Given the description of an element on the screen output the (x, y) to click on. 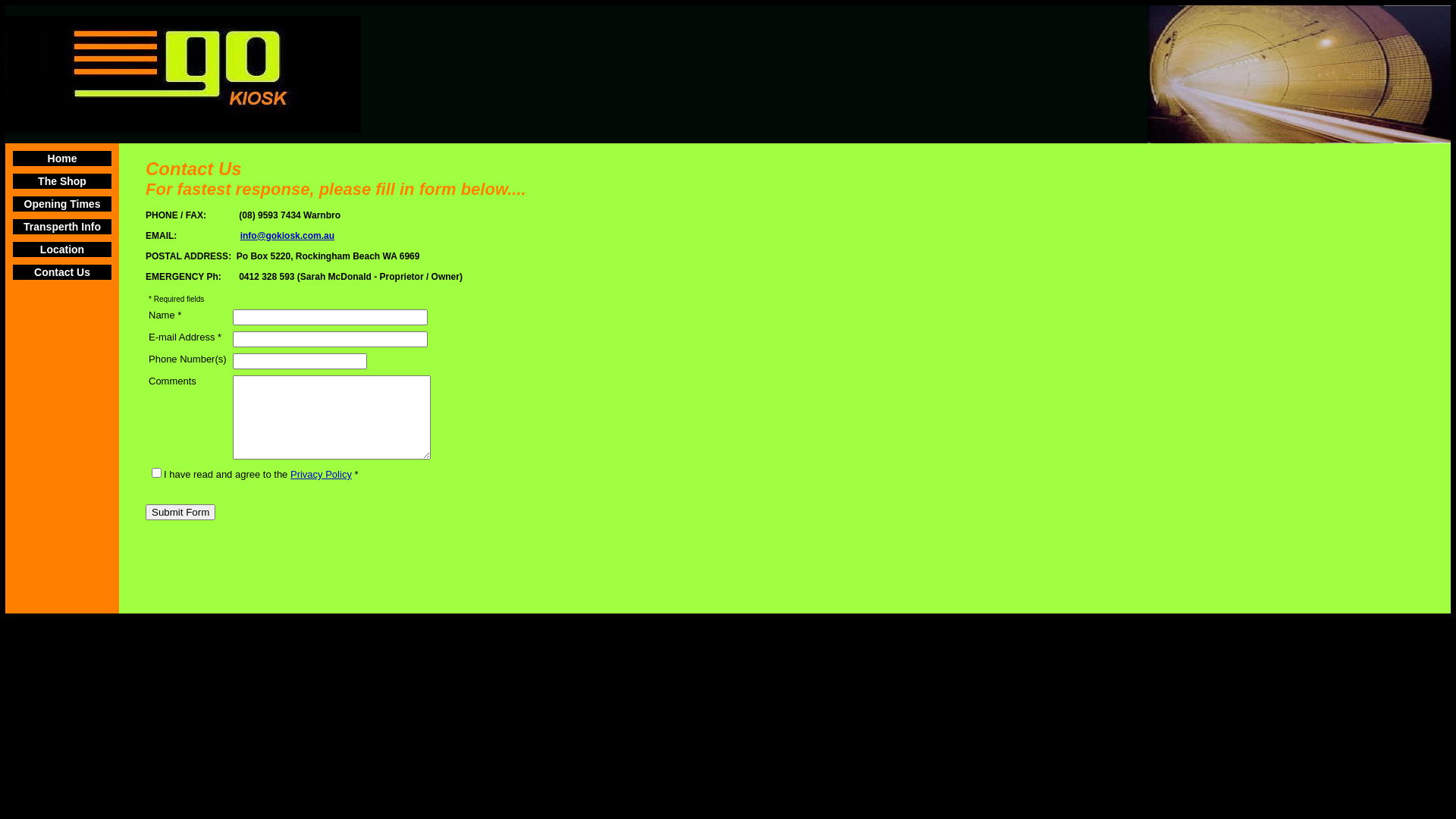
Advertisement Element type: hover (973, 564)
Transperth Info Element type: text (61, 226)
Advertisement Element type: hover (421, 564)
Home Element type: text (62, 158)
Location Element type: text (62, 249)
info@gokiosk.com.au Element type: text (287, 234)
Contact Us Element type: text (62, 272)
Privacy Policy Element type: text (320, 474)
Opening Times Element type: text (62, 203)
Submit Form Element type: text (180, 512)
The Shop Element type: text (61, 181)
